Given the description of an element on the screen output the (x, y) to click on. 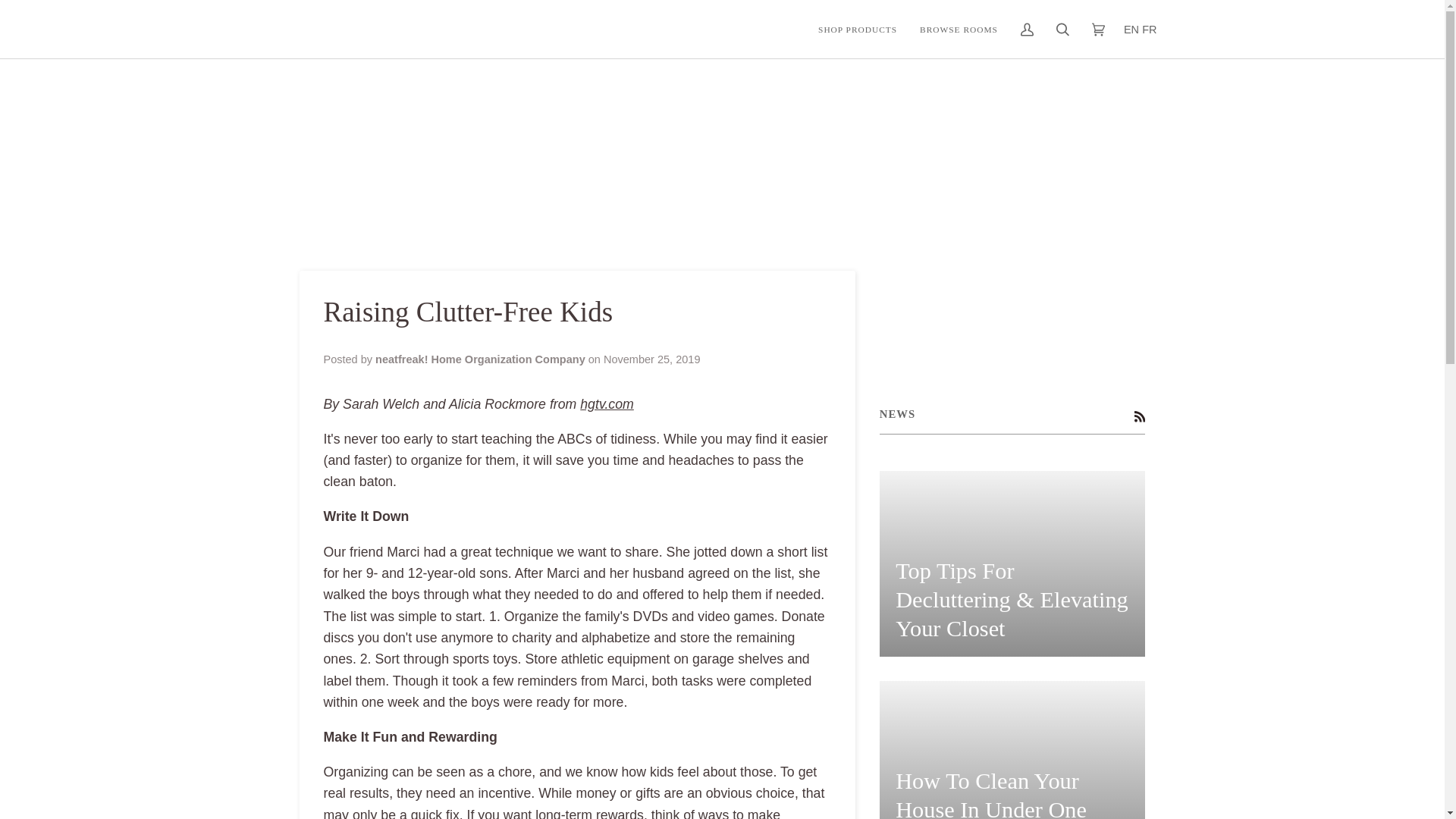
English (1131, 29)
EN (1131, 29)
French (1148, 29)
BROWSE ROOMS (958, 29)
SHOP PRODUCTS (857, 29)
FR (1148, 29)
